Given the description of an element on the screen output the (x, y) to click on. 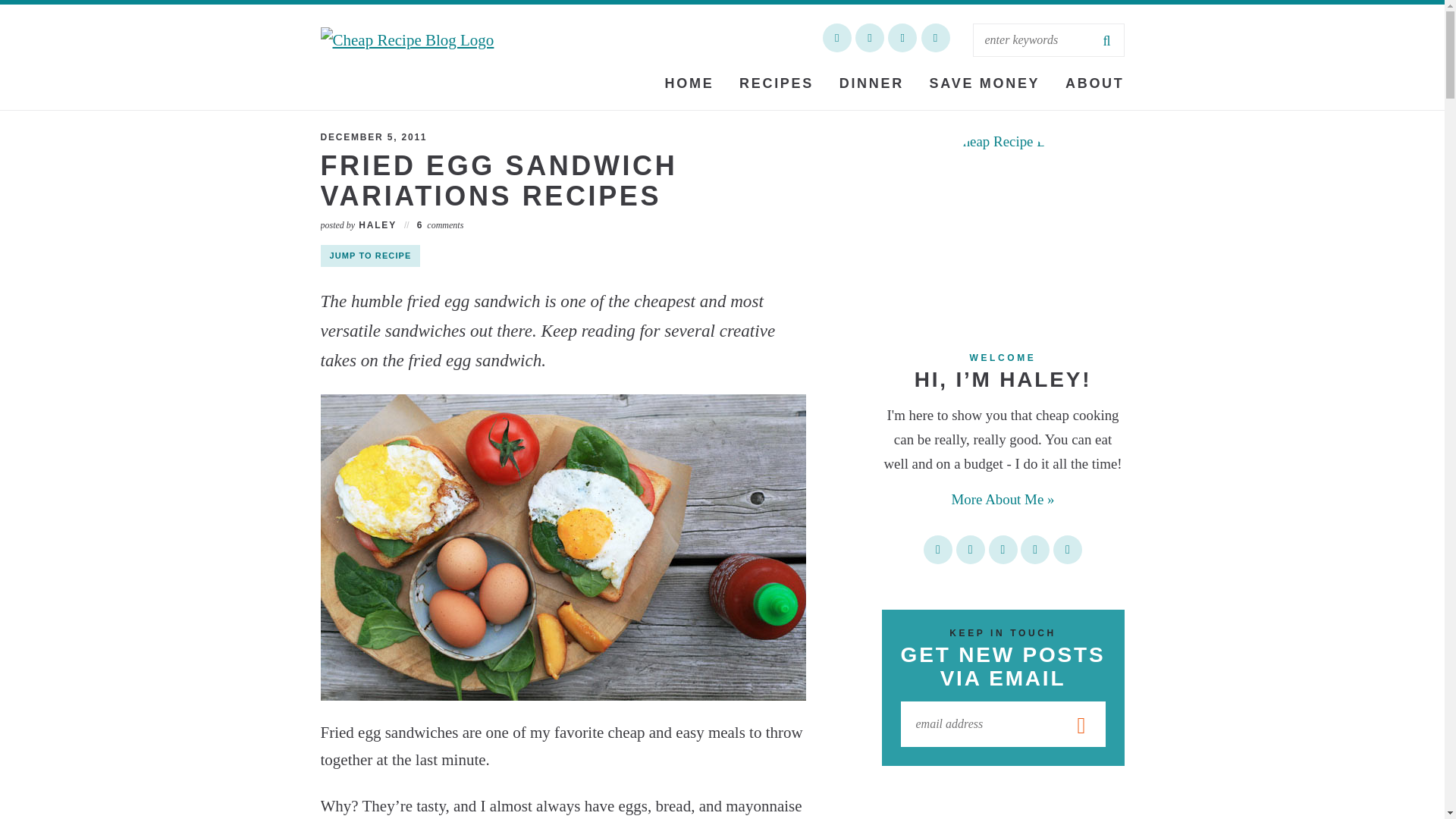
Twitter (1066, 549)
RECIPES (776, 83)
Cheap Recipe Blog (449, 58)
Instagram (1002, 549)
SAVE MONEY (984, 83)
Pinterest (970, 549)
Facebook (1034, 549)
Instagram (934, 37)
Twitter (836, 37)
Pinterest (902, 37)
HOME (689, 83)
RSS Feed (937, 549)
DINNER (871, 83)
Facebook (869, 37)
